Given the description of an element on the screen output the (x, y) to click on. 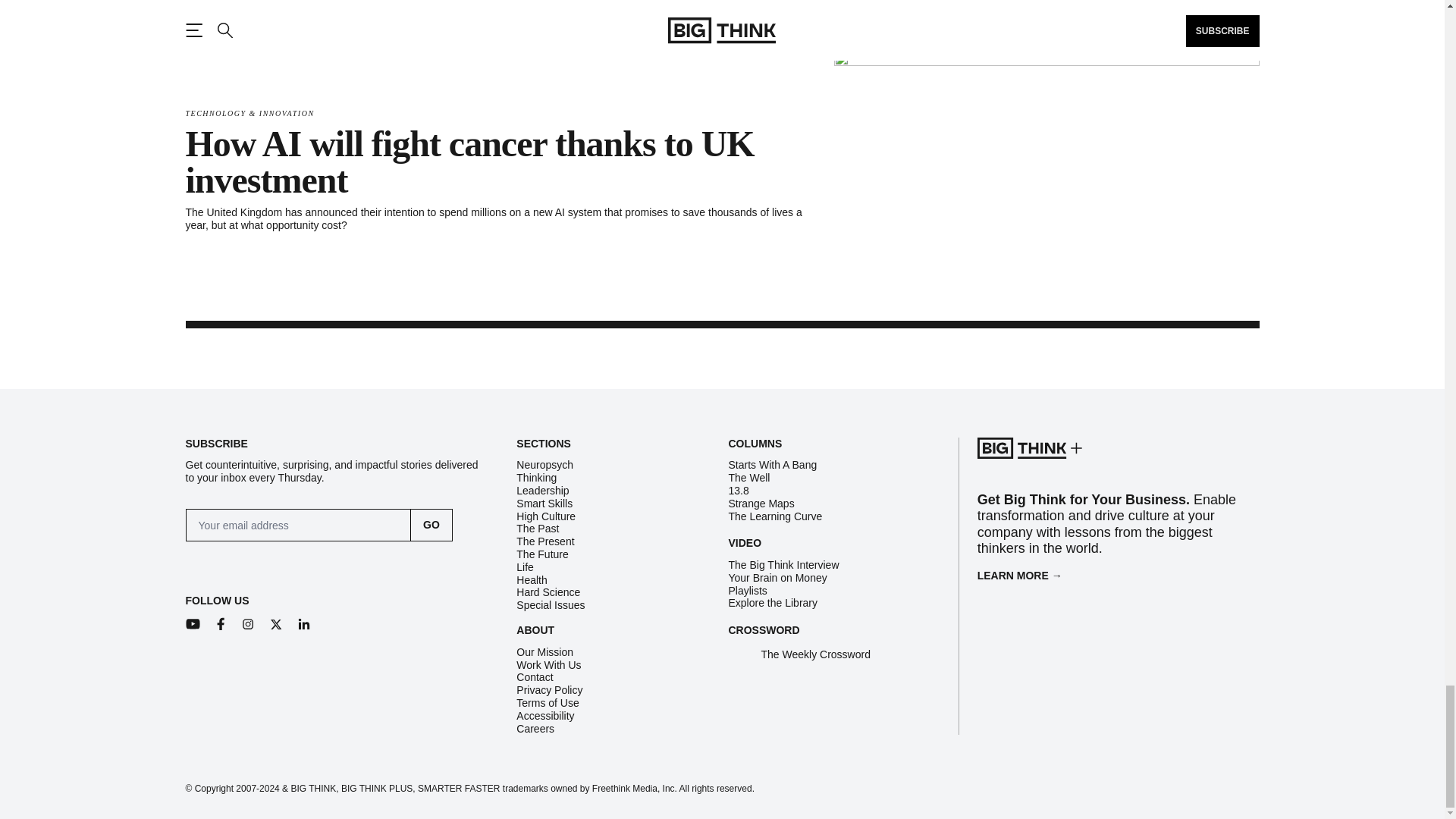
Go (431, 524)
